Given the description of an element on the screen output the (x, y) to click on. 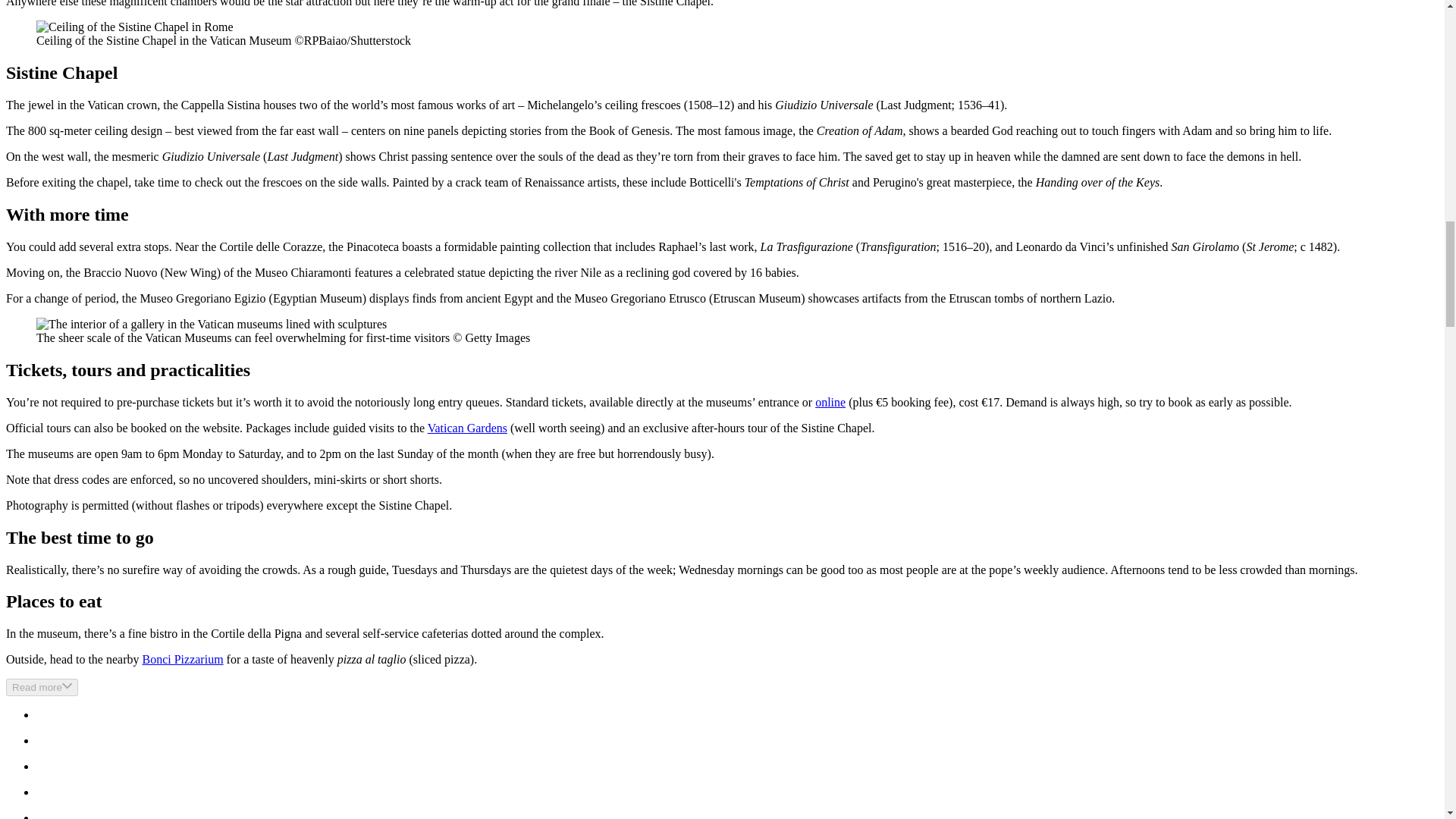
Vatican Museums, Rome (211, 324)
Ceiling of the Sistine Chapel in Rome (134, 27)
